Given the description of an element on the screen output the (x, y) to click on. 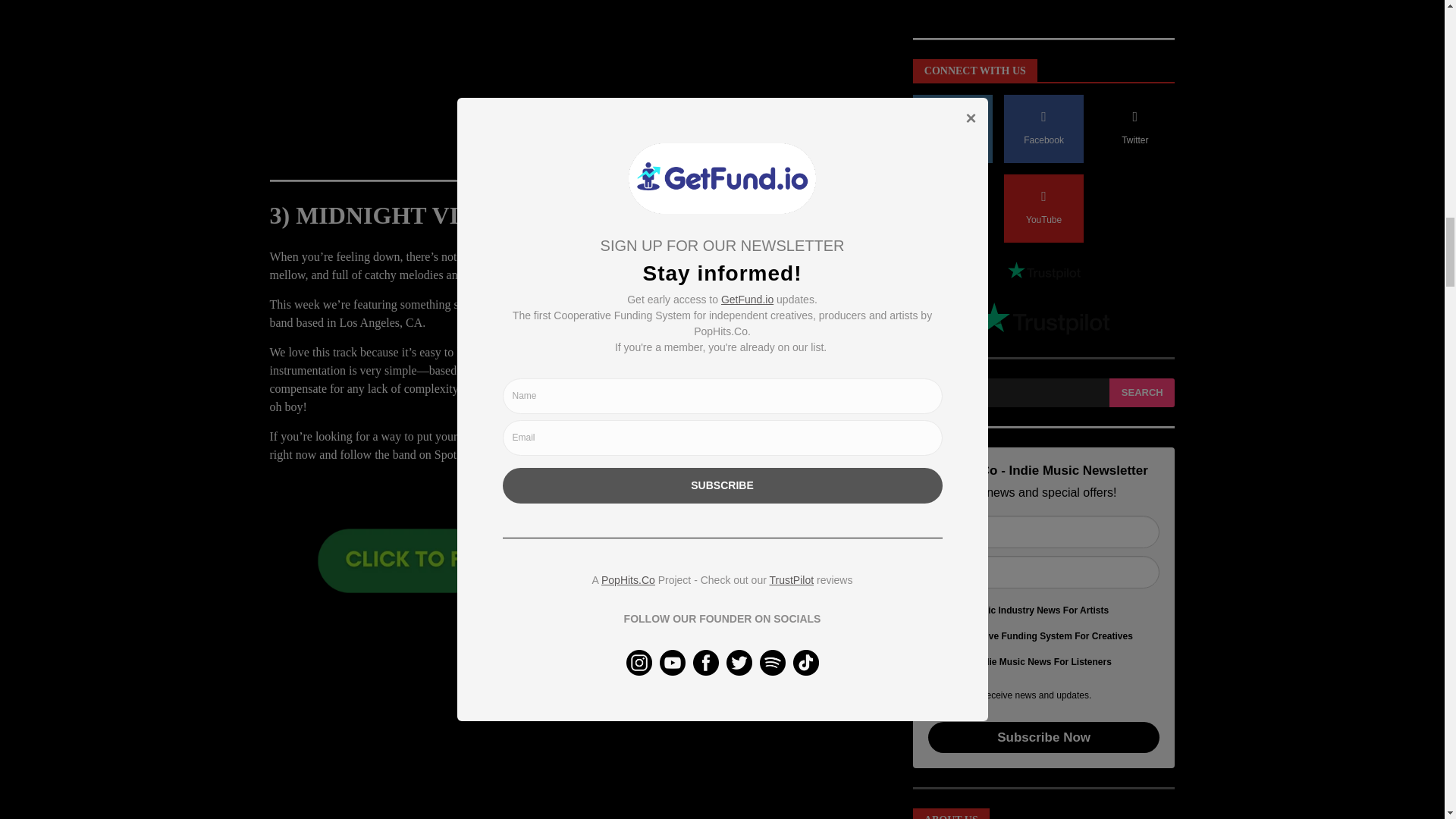
Spotify Embed: All You Gotta Know (581, 719)
Spotify Embed: In-Between (581, 82)
